Given the description of an element on the screen output the (x, y) to click on. 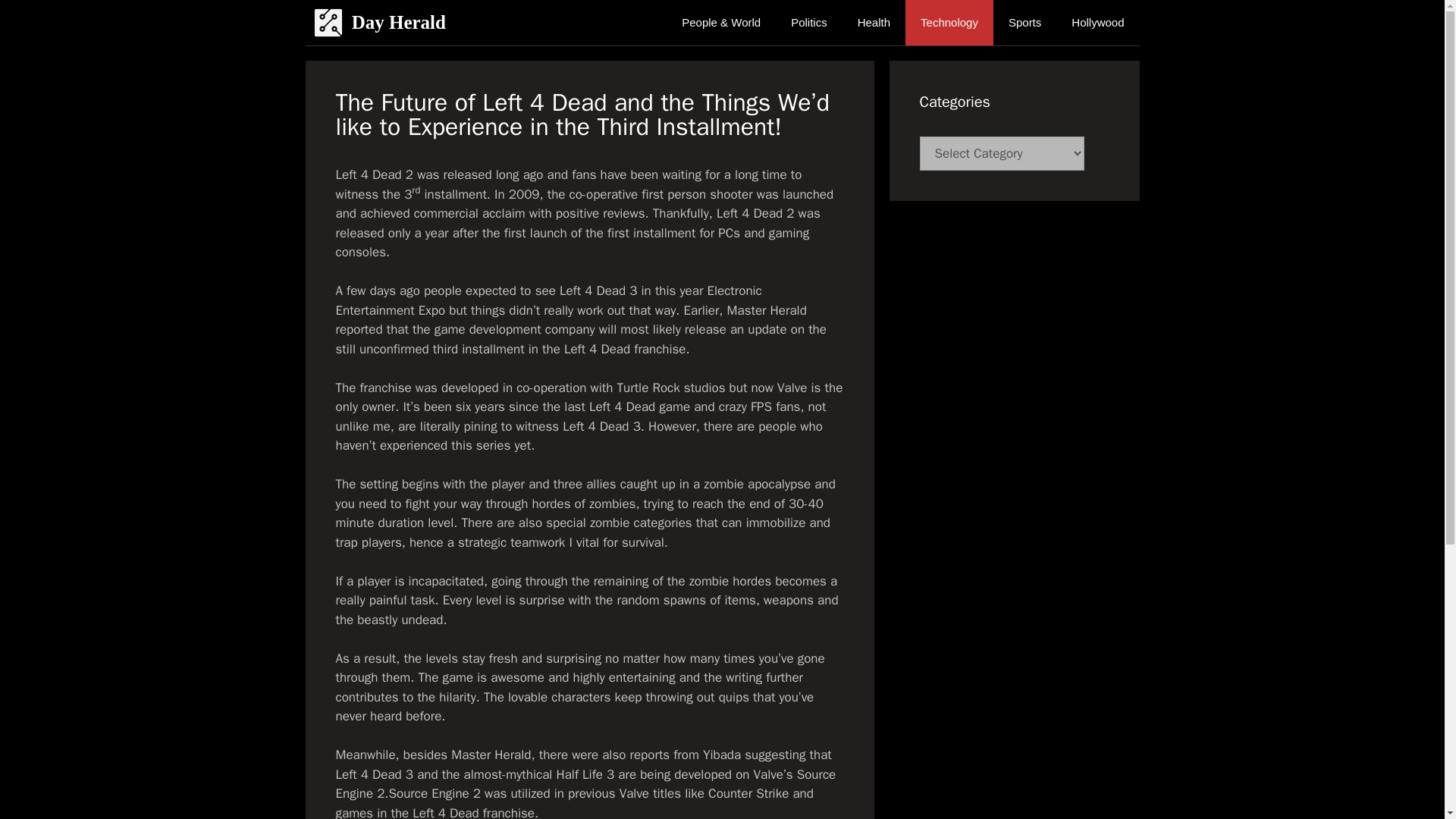
Technology (948, 22)
Day Herald (398, 22)
Health (874, 22)
Sports (1024, 22)
Hollywood (1097, 22)
Politics (809, 22)
Day Herald (331, 22)
Day Herald (328, 22)
